Given the description of an element on the screen output the (x, y) to click on. 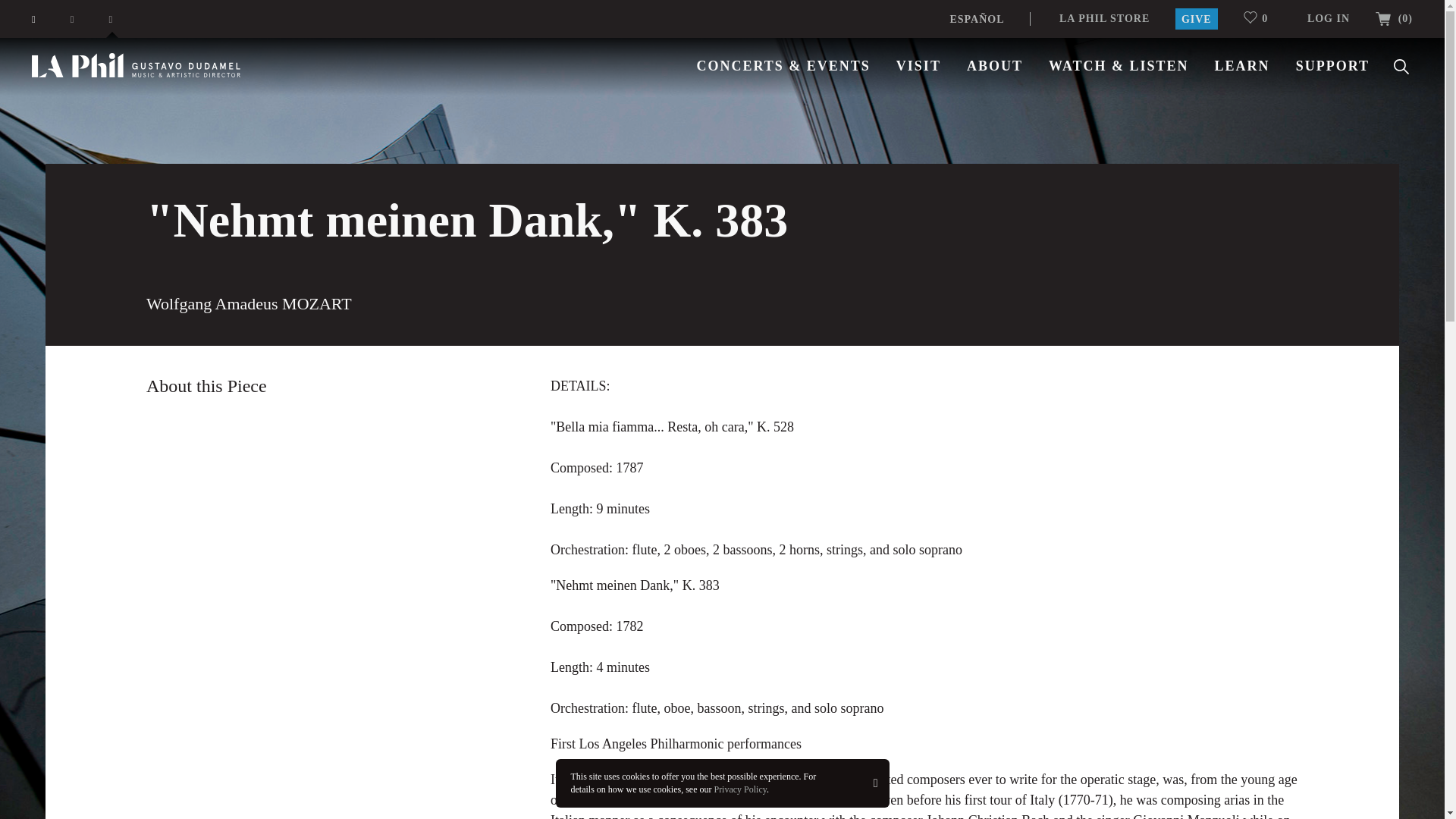
LOG IN (1328, 18)
LA PHIL STORE (1104, 18)
GIVE (1195, 18)
ABOUT (994, 65)
VISIT (918, 65)
Homepage (136, 64)
0 (1262, 18)
